Given the description of an element on the screen output the (x, y) to click on. 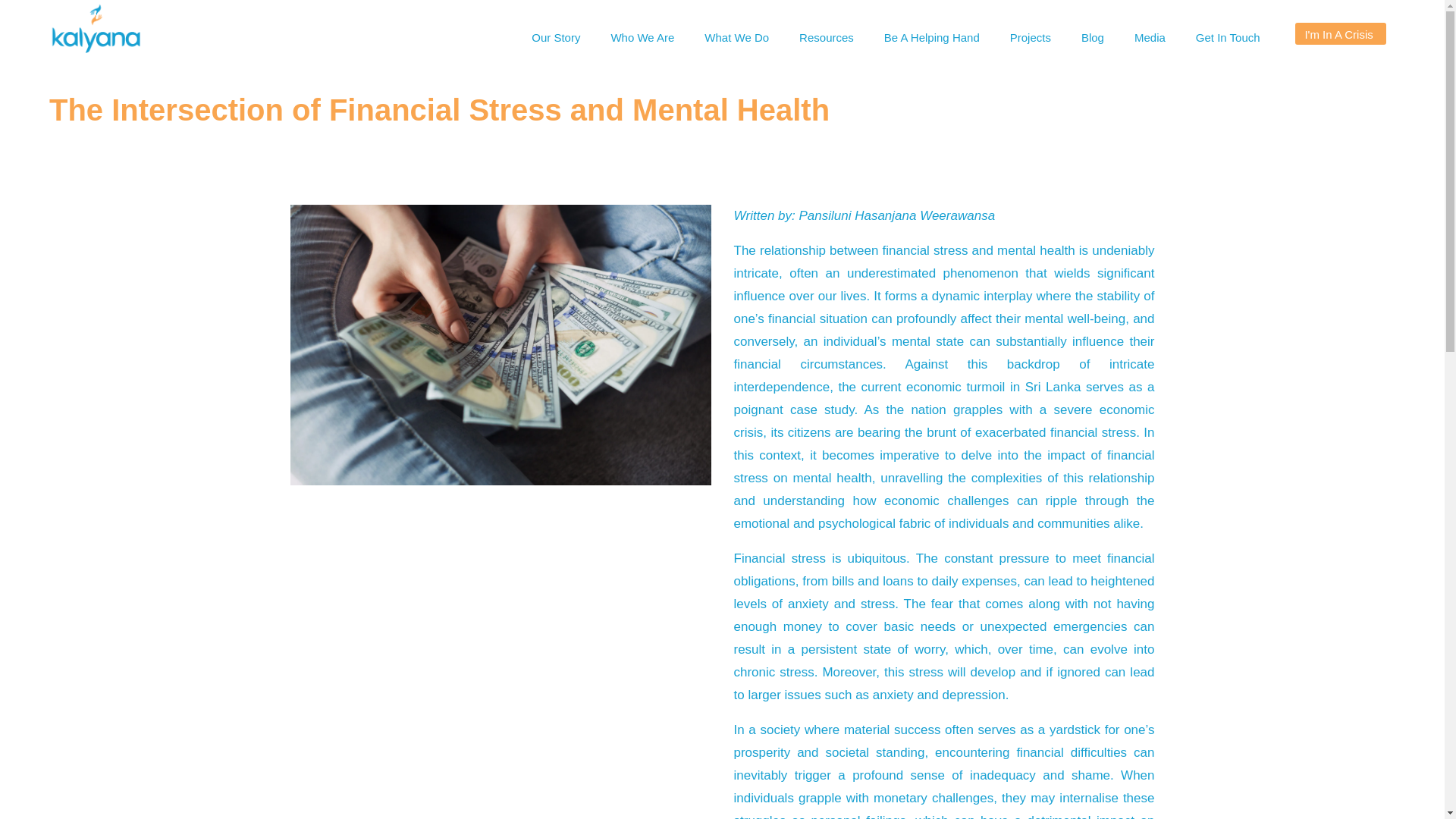
What We Do (736, 37)
Be A Helping Hand (931, 37)
Who We Are (641, 37)
Projects (1030, 37)
I'M In A Crisis (1340, 33)
Get In Touch (1227, 37)
Blog (1092, 37)
Our Story (555, 37)
Media (1150, 37)
Resources (826, 37)
